Given the description of an element on the screen output the (x, y) to click on. 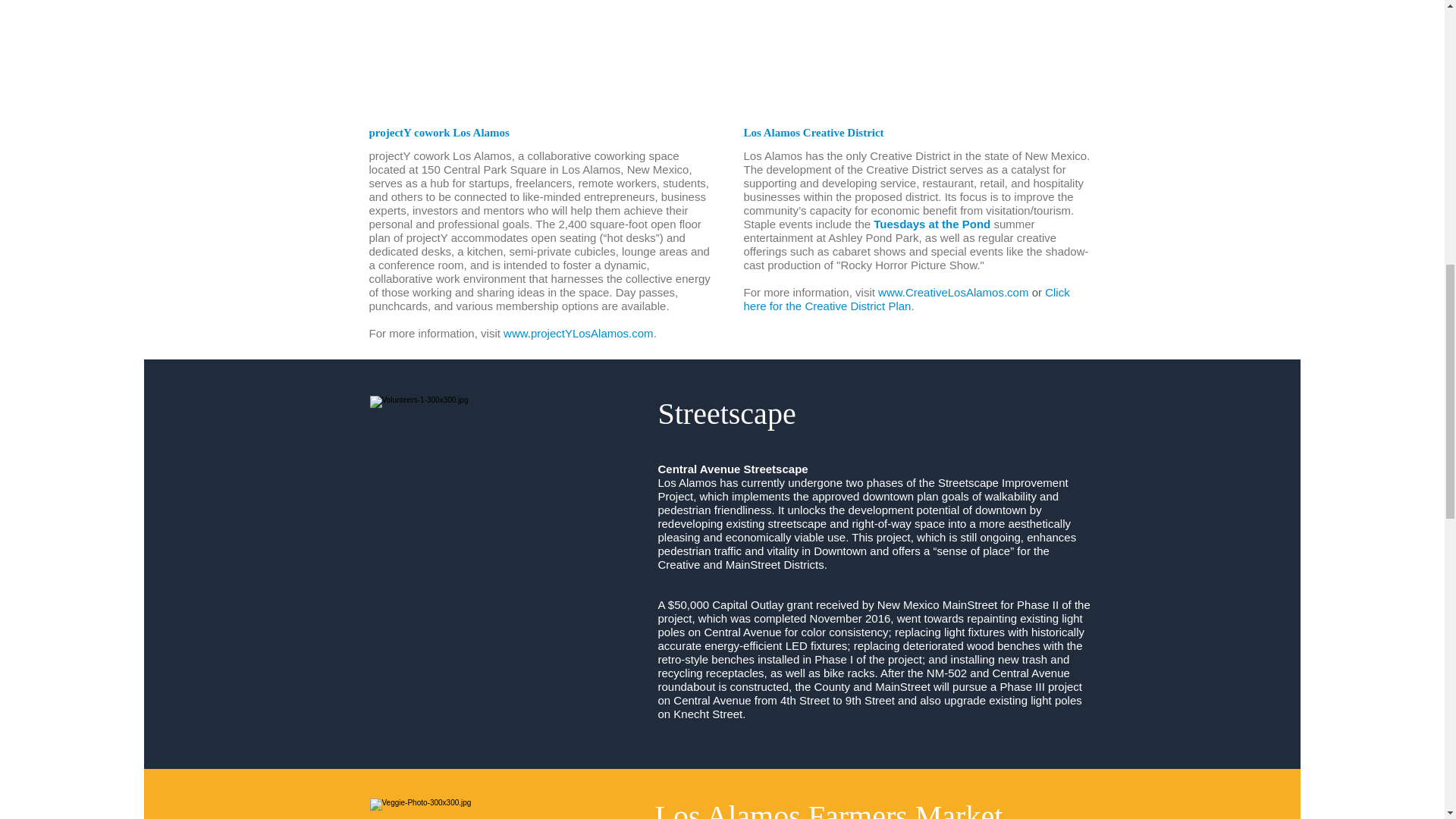
Tuesdays at the Pond  (932, 223)
projectY cowork Los Alamos (438, 132)
Click here for the Creative District Plan (905, 298)
www.projectYLosAlamos.com (578, 332)
www.CreativeLosAlamos.com  (954, 291)
Los Alamos Creative District (812, 132)
